Given the description of an element on the screen output the (x, y) to click on. 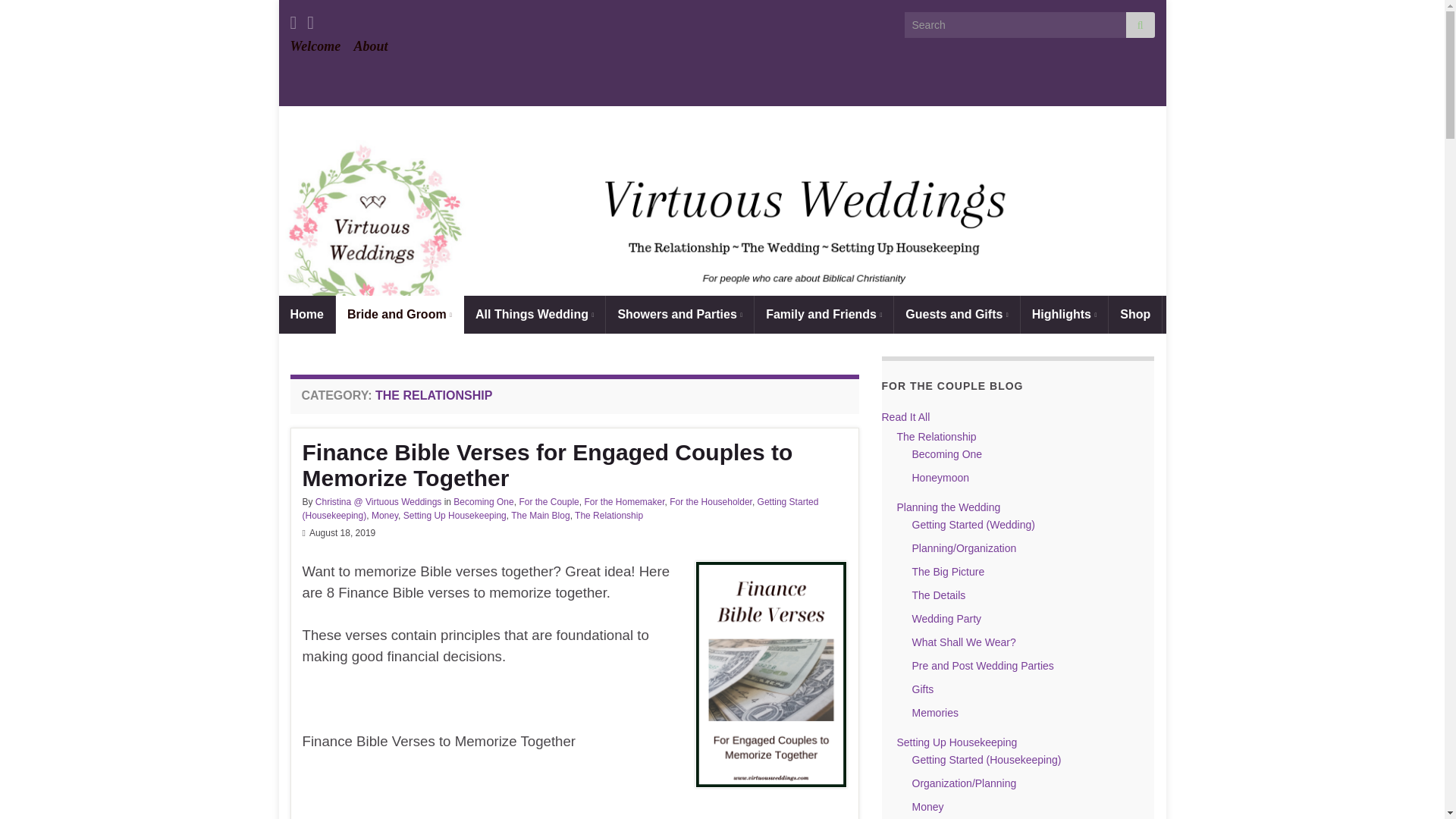
All Things Wedding (534, 314)
Family and Friends (823, 314)
Shop (1134, 314)
Showers and Parties (679, 314)
Welcome (314, 46)
Read Everything (534, 314)
Highlights (1064, 314)
Bride and Groom (399, 314)
About (370, 46)
Guests and Gifts (956, 314)
Home (306, 314)
2019-08-18T07:00:59-04:00 (341, 532)
